Given the description of an element on the screen output the (x, y) to click on. 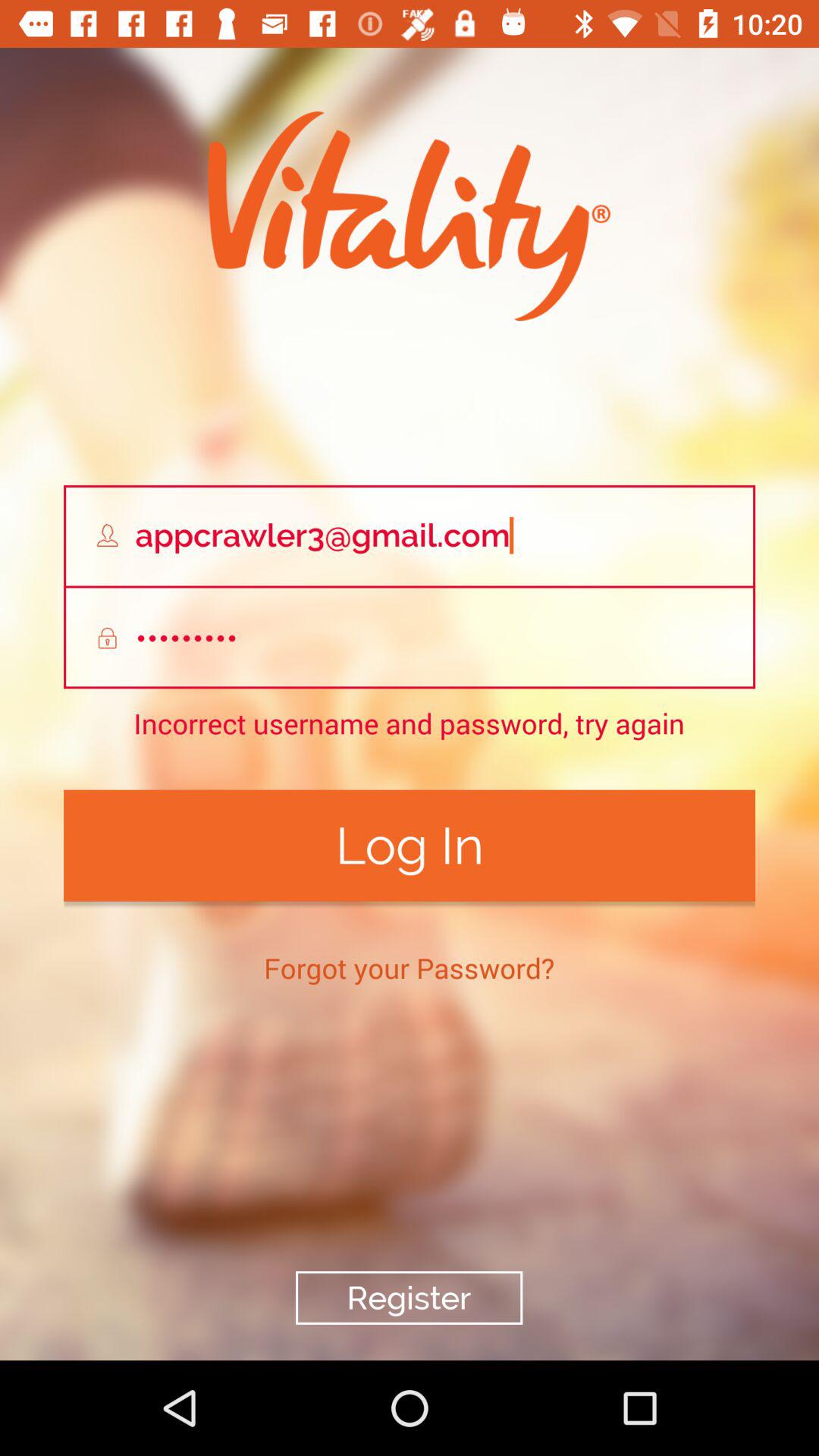
scroll to register item (408, 1297)
